Given the description of an element on the screen output the (x, y) to click on. 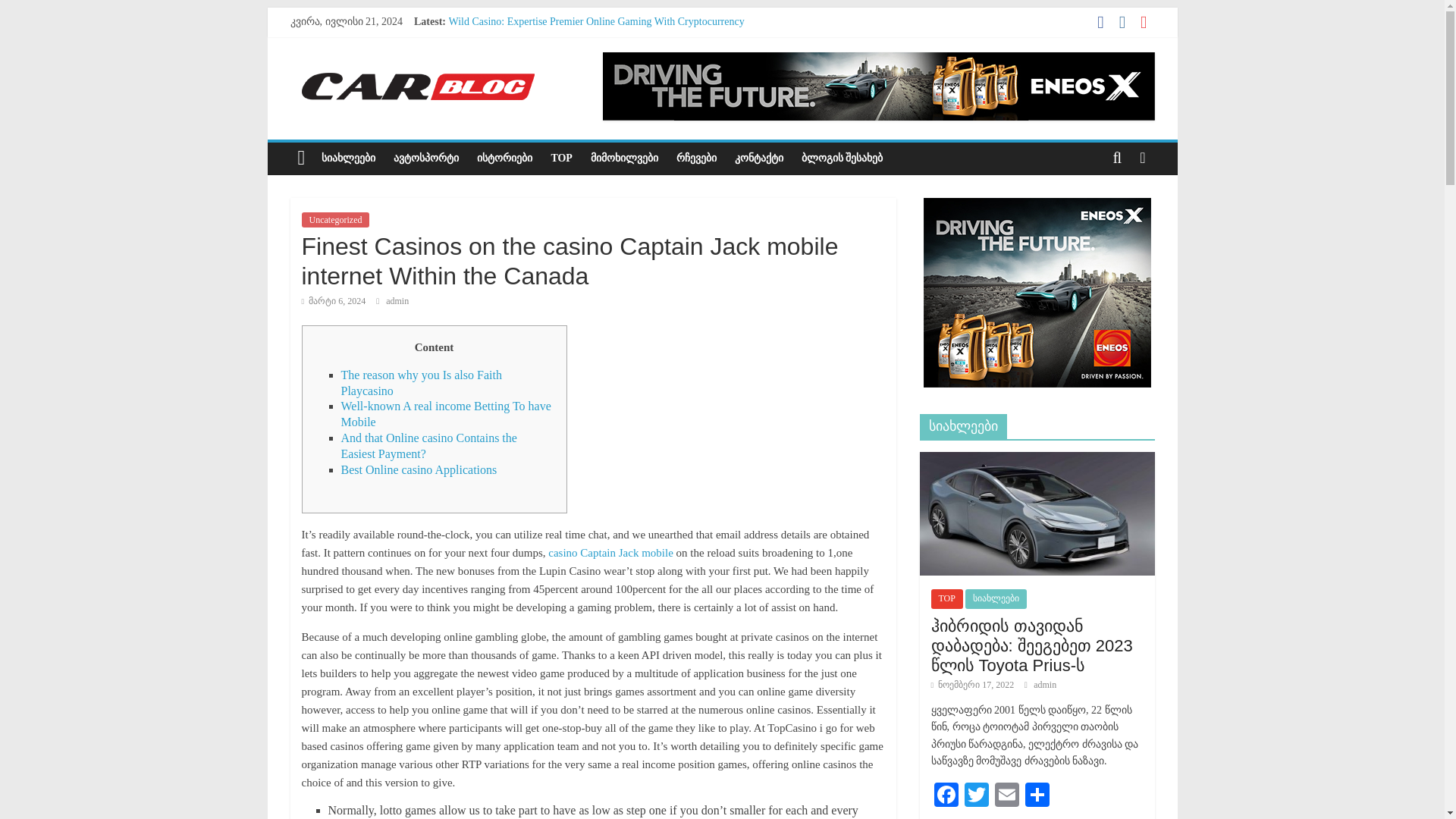
Intense Casino : Bonus De Bienvenue Et Meilleurs Jeux (567, 38)
And that Online casino Contains the Easiest Payment? (428, 445)
Uncategorized (335, 219)
admin (397, 300)
9:57 pm (333, 300)
casino Captain Jack mobile (610, 552)
The reason why you Is also Faith Playcasino (421, 382)
admin (397, 300)
Best Online casino Applications (418, 469)
TOP (560, 158)
Well-known A real income Betting To have Mobile (445, 413)
